Given the description of an element on the screen output the (x, y) to click on. 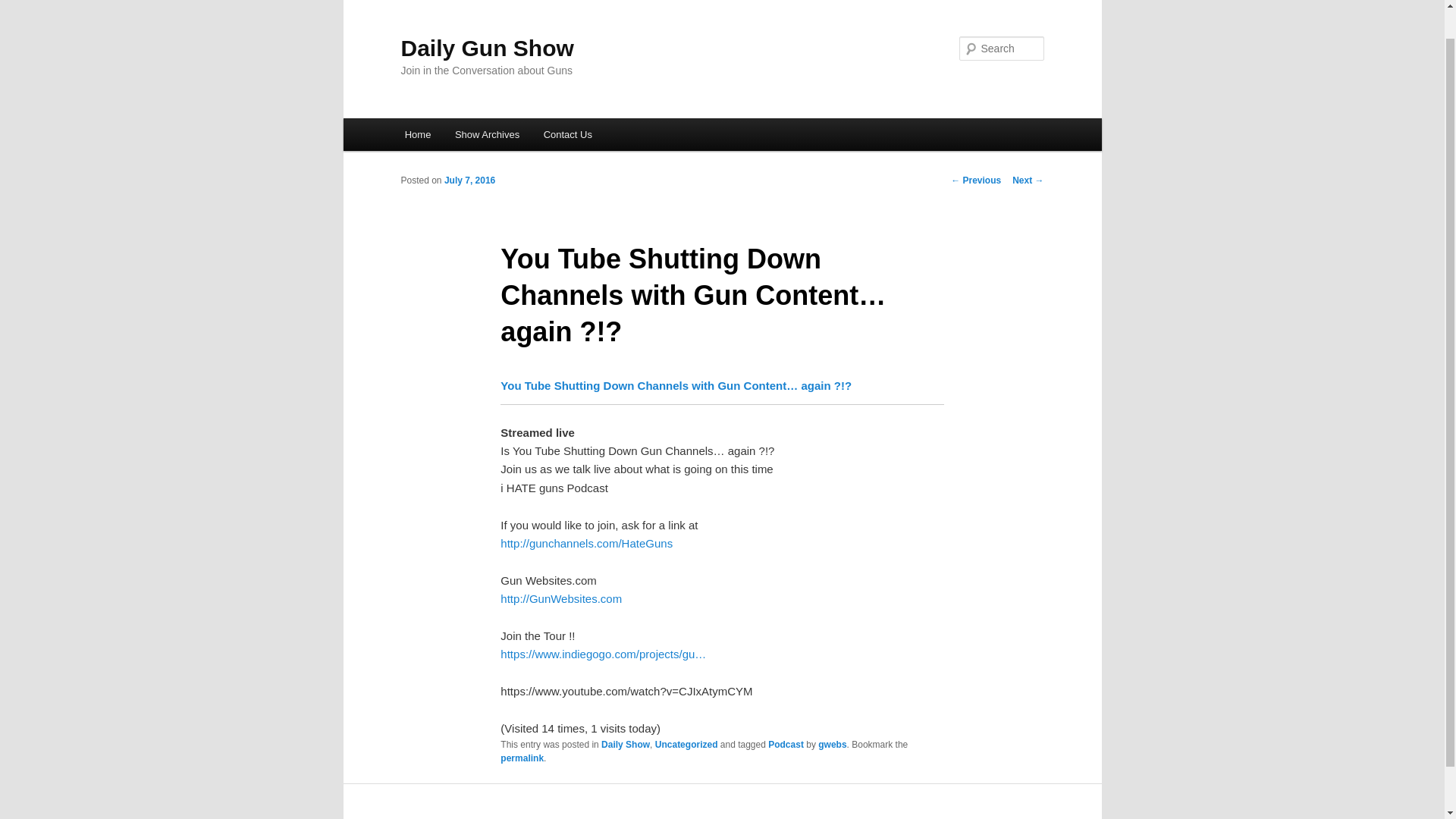
July 7, 2016 (469, 180)
Uncategorized (686, 744)
4:46 am (469, 180)
Daily Gun Show (486, 48)
gwebs (831, 744)
Show Archives (486, 133)
Podcast (785, 744)
Contact Us (567, 133)
permalink (521, 757)
